Given the description of an element on the screen output the (x, y) to click on. 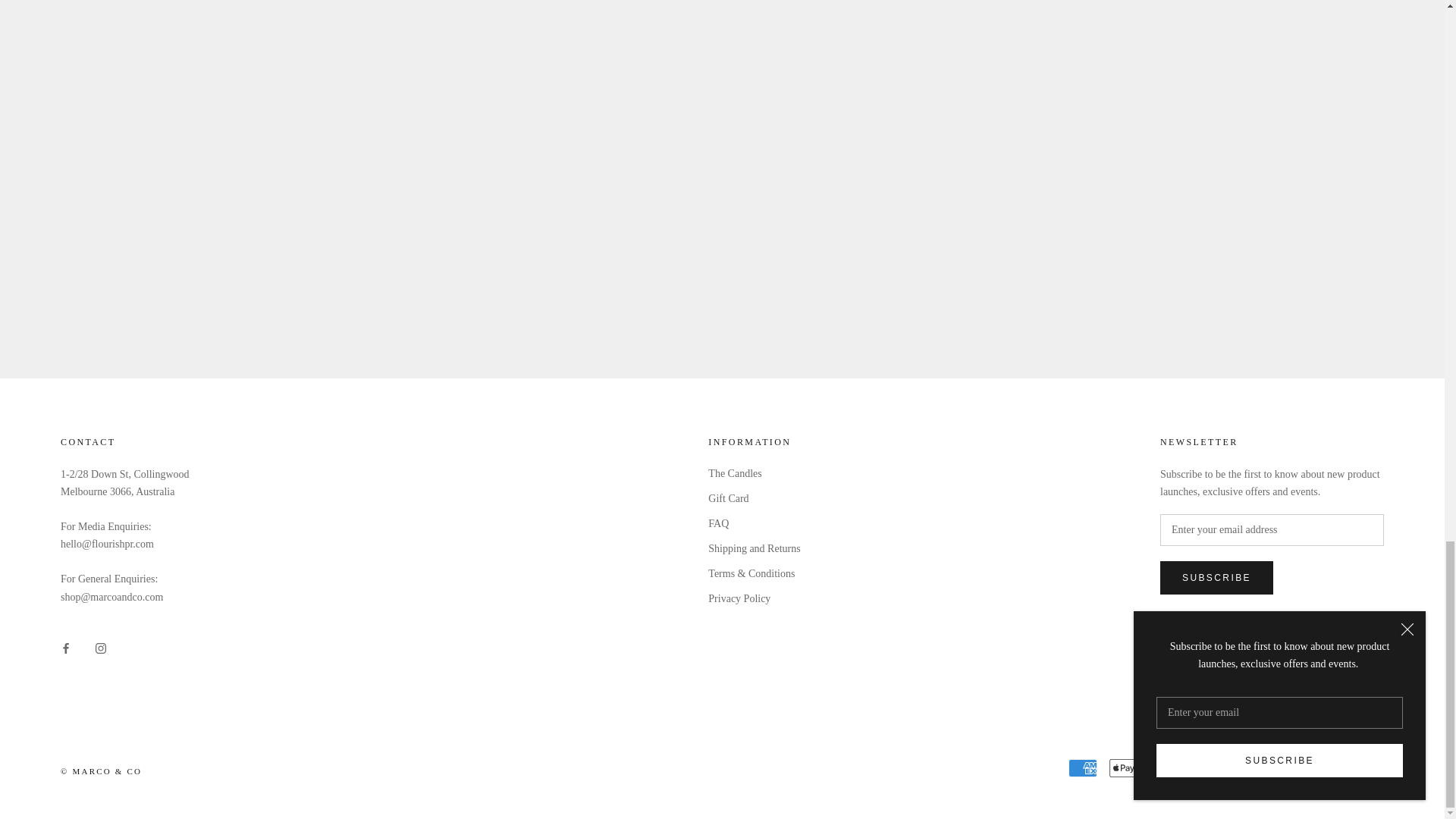
Gift Card (753, 498)
Union Pay (1328, 768)
Shipping and Returns (753, 548)
Google Pay (1164, 768)
The Candles (753, 473)
Visa (1369, 768)
FAQ (753, 523)
American Express (1082, 768)
Apple Pay (1123, 768)
PayPal (1245, 768)
Mastercard (1205, 768)
Shop Pay (1286, 768)
